Given the description of an element on the screen output the (x, y) to click on. 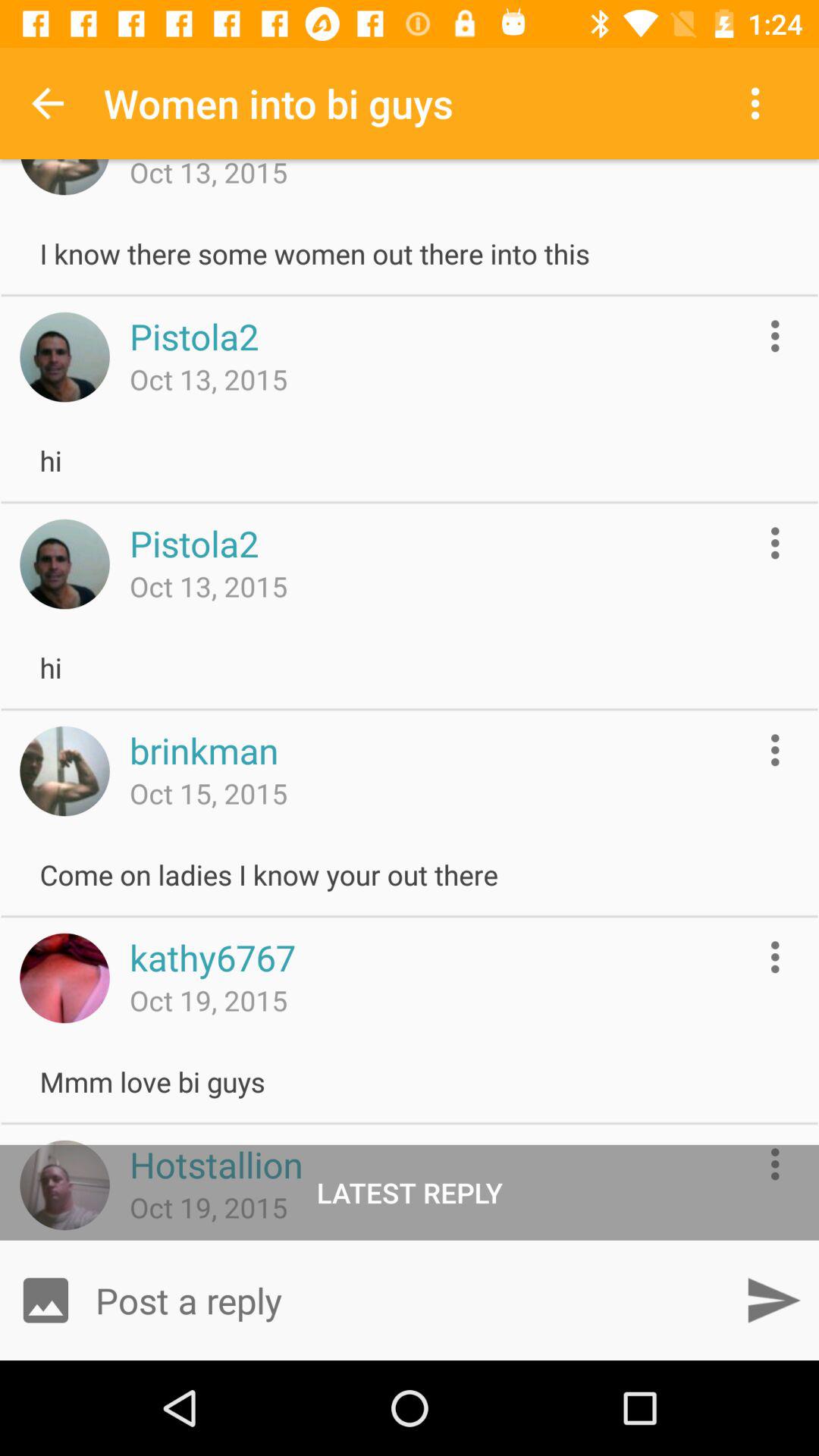
jump until latest reply icon (409, 1192)
